Given the description of an element on the screen output the (x, y) to click on. 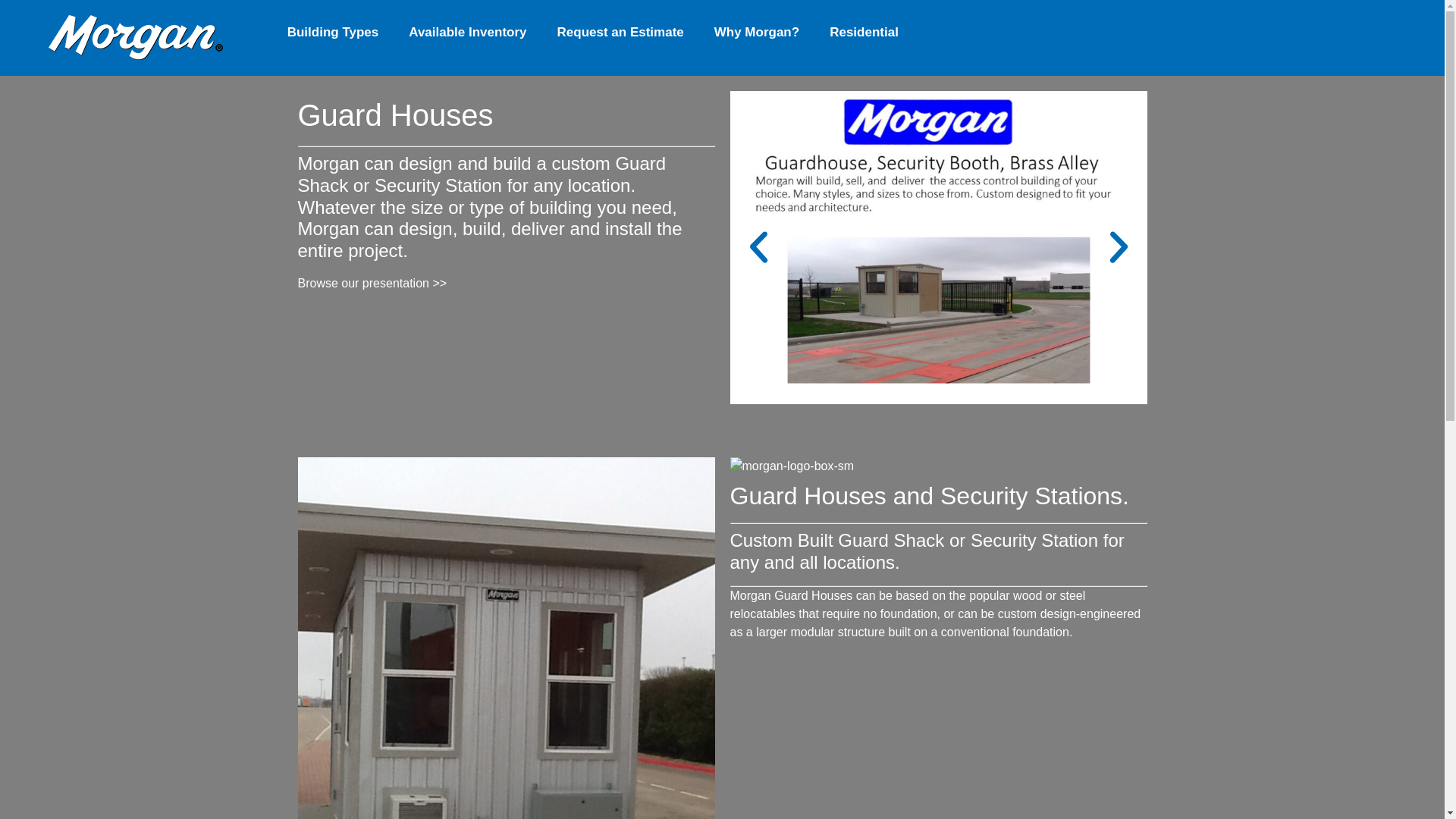
Why Morgan? (755, 32)
Residential (863, 32)
Request an Estimate (619, 32)
Building Types (333, 32)
Available Inventory (467, 32)
